Given the description of an element on the screen output the (x, y) to click on. 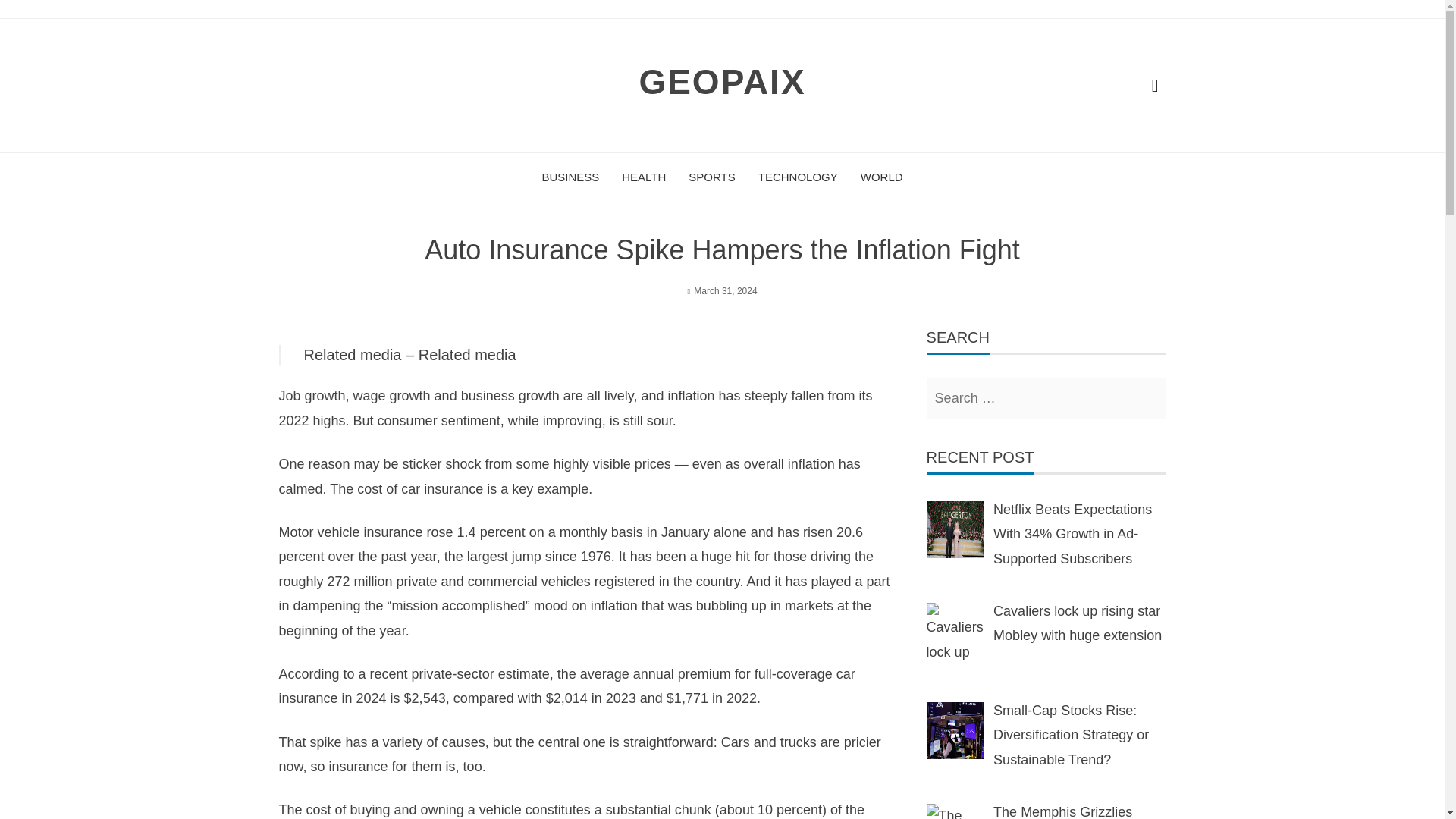
HEALTH (643, 177)
Cavaliers lock up rising star Mobley with huge extension (1076, 622)
the largest jump since 1976 (527, 556)
GEOPAIX (722, 81)
SPORTS (711, 177)
Search (37, 19)
Cavaliers lock up rising star Mobley with huge extension (955, 631)
BUSINESS (569, 177)
WORLD (881, 177)
TECHNOLOGY (798, 177)
Related media (467, 354)
